Given the description of an element on the screen output the (x, y) to click on. 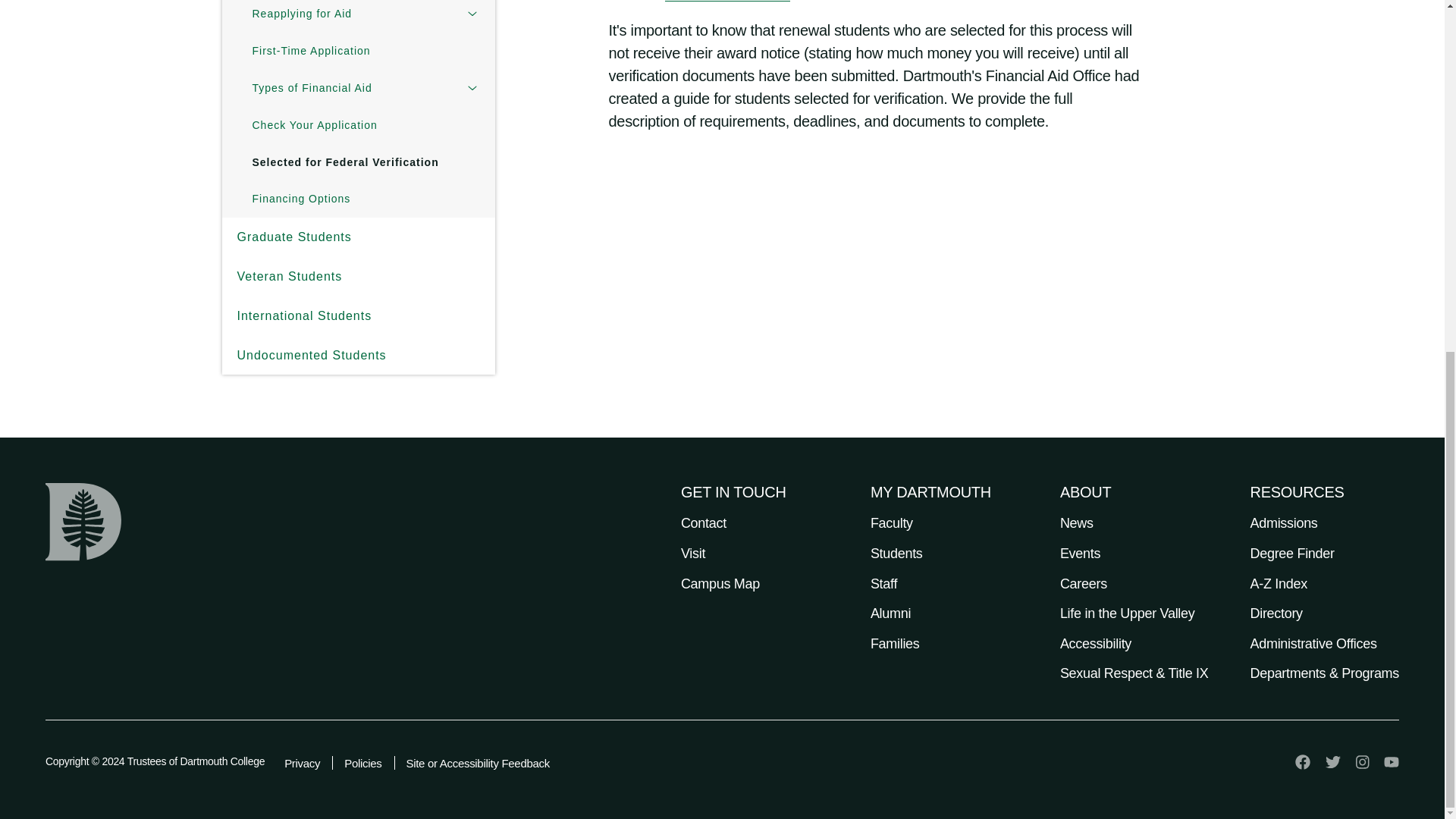
youtube (1391, 761)
instagram (1362, 761)
twitter (1332, 761)
facebook (1302, 761)
